Given the description of an element on the screen output the (x, y) to click on. 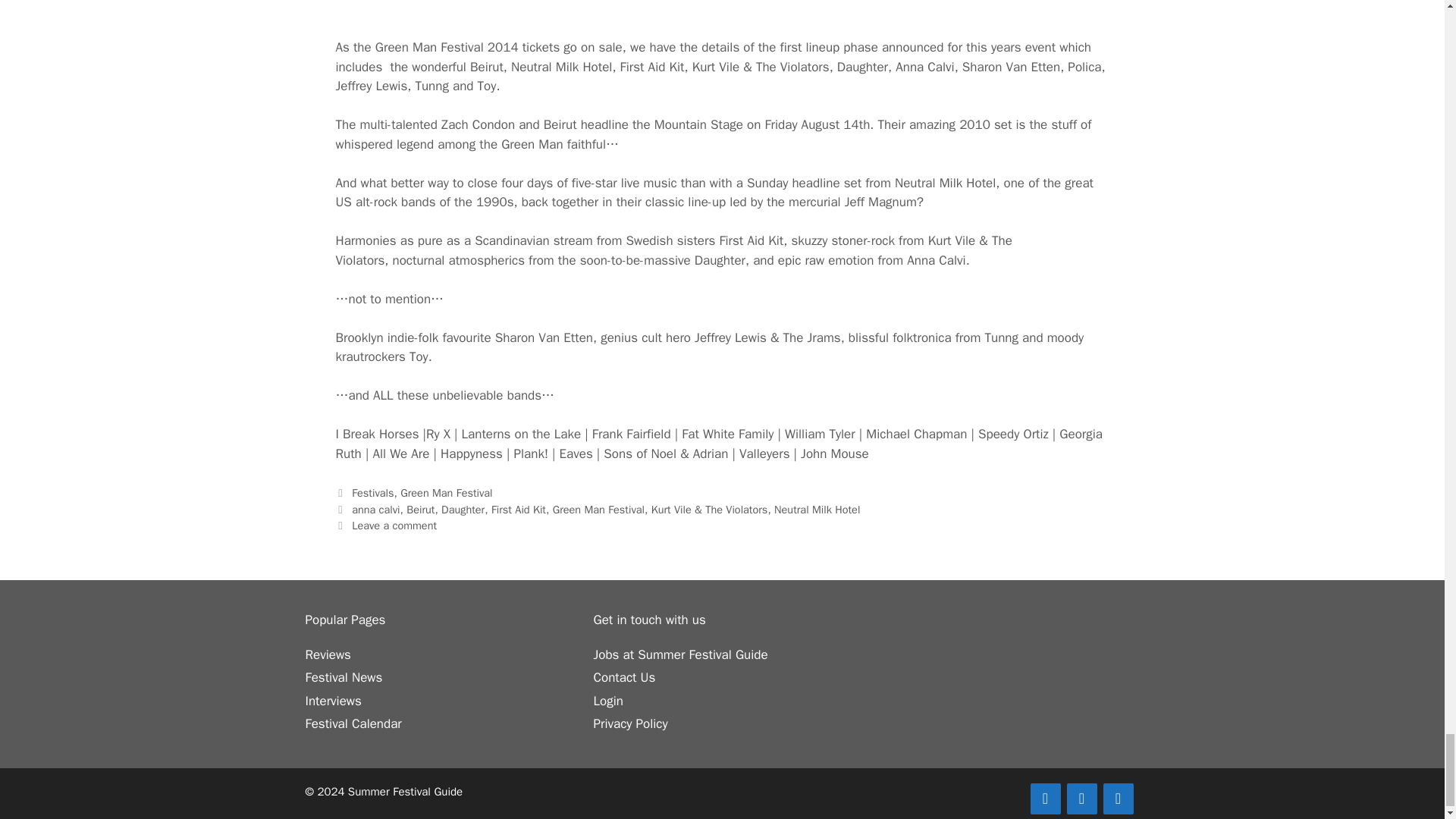
Twitter (1080, 798)
Facebook (1044, 798)
Instagram (1117, 798)
